Given the description of an element on the screen output the (x, y) to click on. 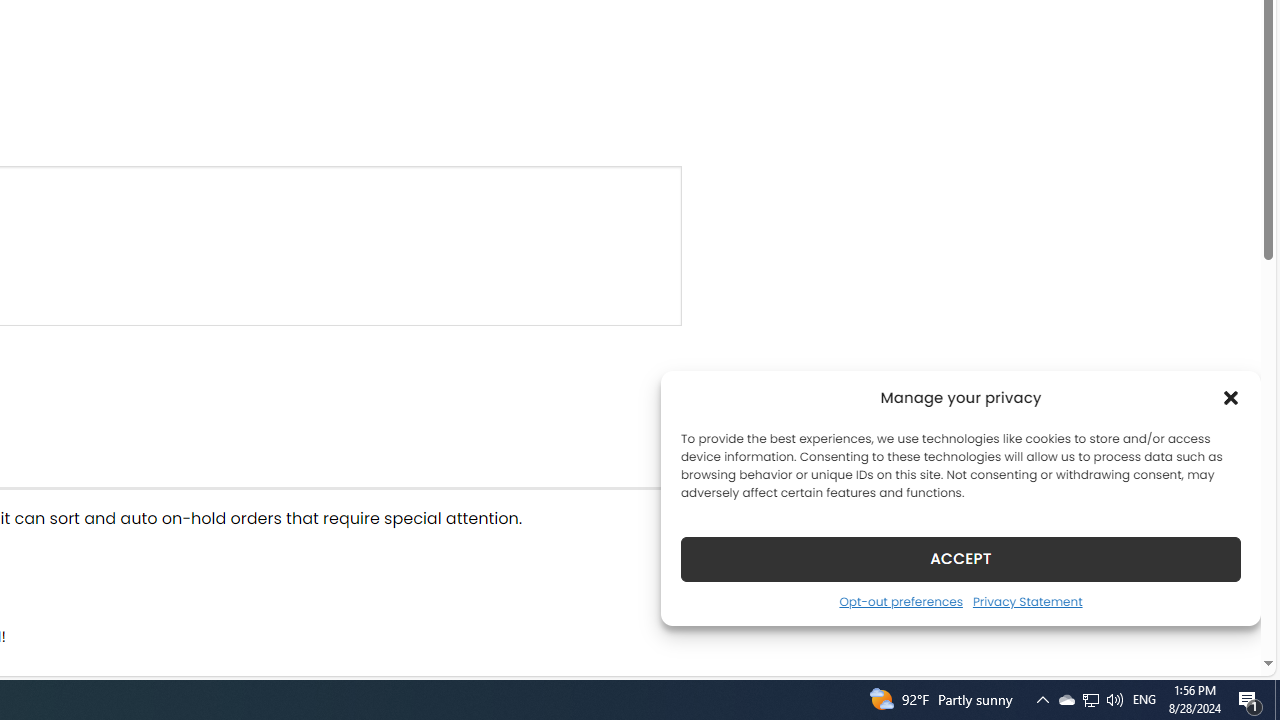
ACCEPT (960, 558)
Class: cmplz-close (1231, 397)
Opt-out preferences (900, 601)
Privacy Statement (1026, 601)
